Given the description of an element on the screen output the (x, y) to click on. 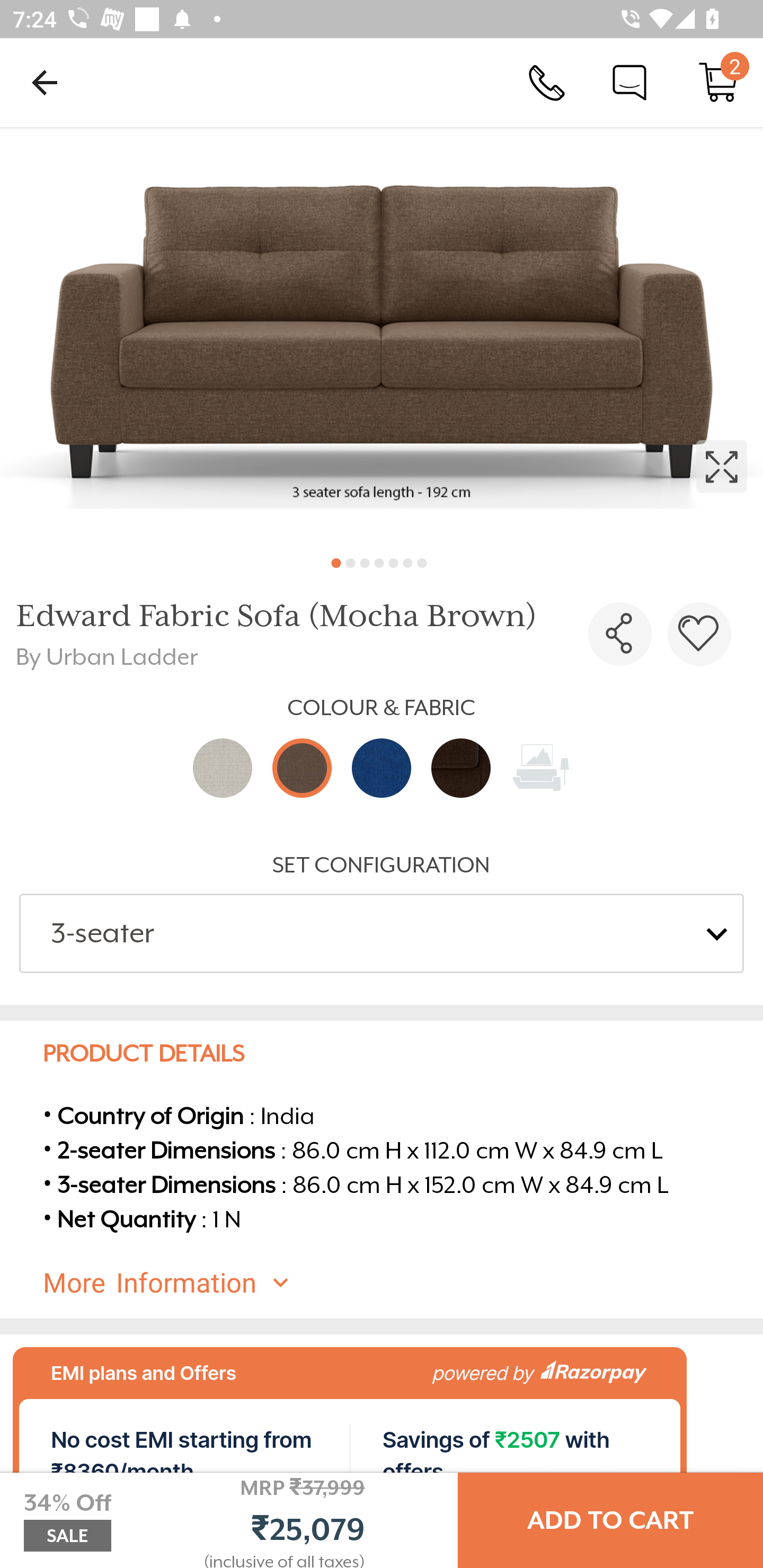
Navigate up (44, 82)
Call Us (546, 81)
Chat (629, 81)
Cart (718, 81)
 (381, 334)
 (619, 634)
 (698, 634)
SET CONFIGURATION 3-seater  (381, 912)
More Information  (396, 1282)
ADD TO CART (610, 1520)
